Given the description of an element on the screen output the (x, y) to click on. 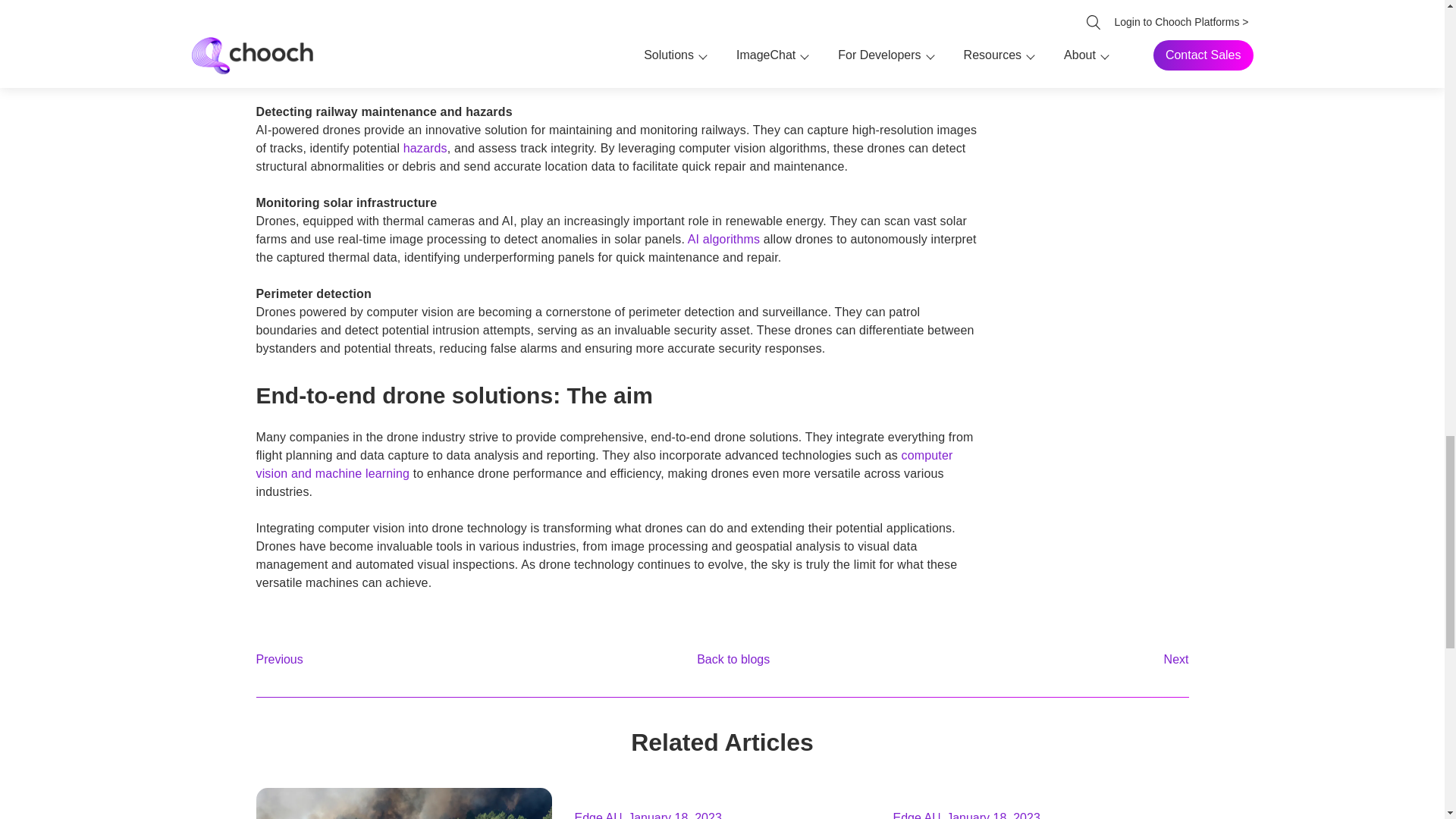
Edge AI (596, 814)
Edge AI (914, 814)
